Given the description of an element on the screen output the (x, y) to click on. 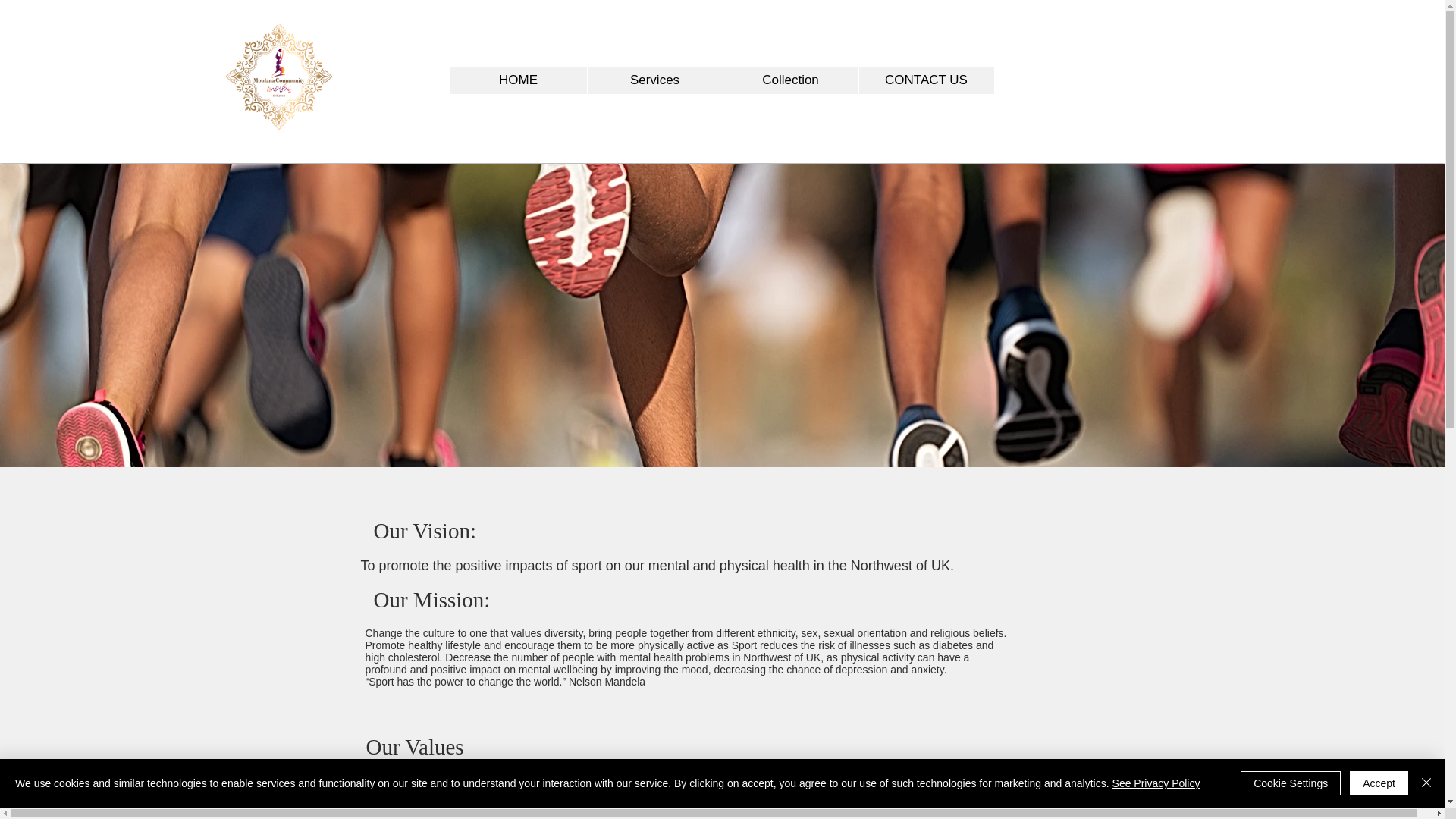
Services (654, 80)
See Privacy Policy (1155, 783)
Cookie Settings (1290, 783)
Collection (789, 80)
HOME (517, 80)
Accept (1378, 783)
CONTACT US (926, 80)
